Given the description of an element on the screen output the (x, y) to click on. 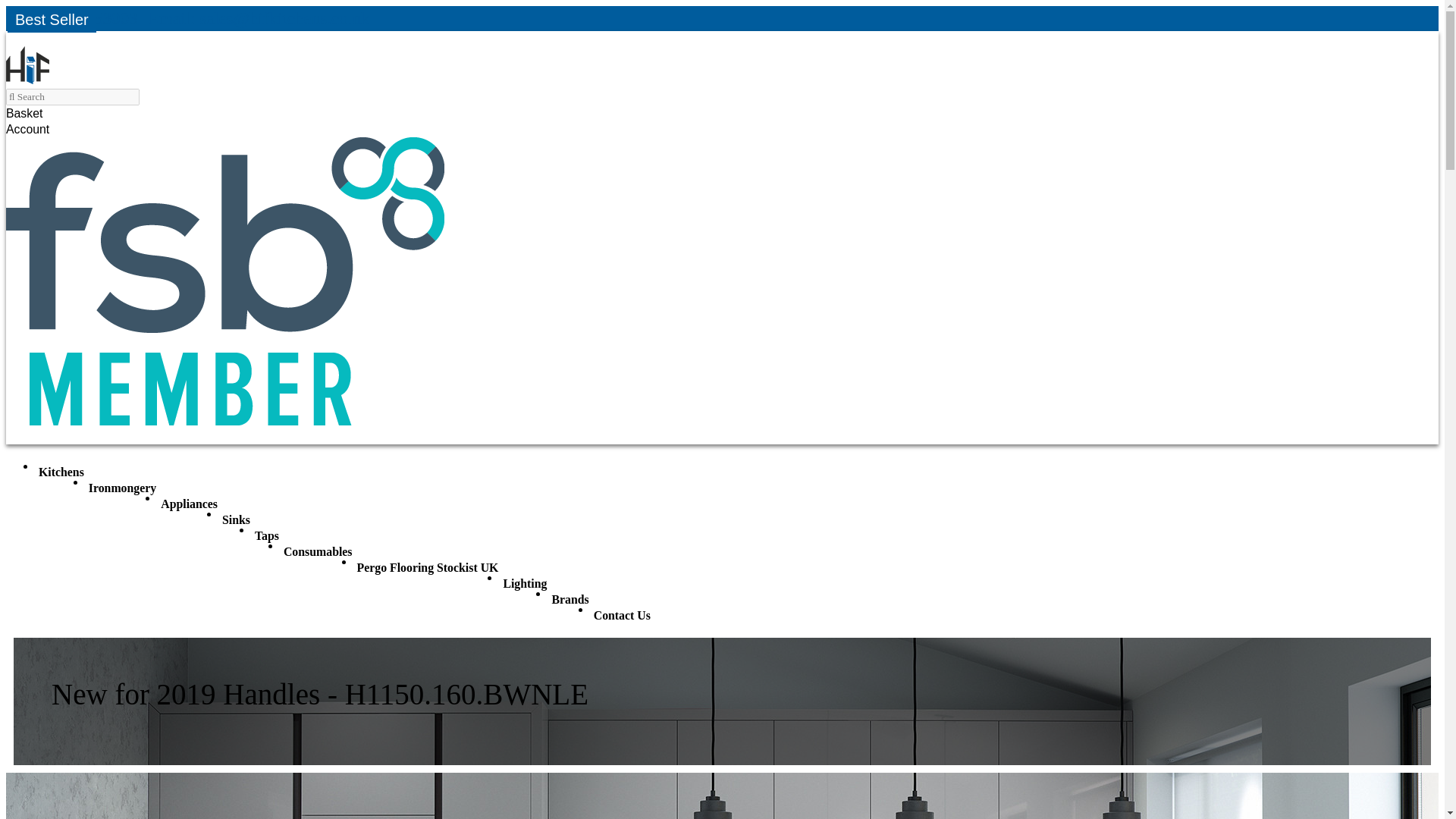
Appliances (188, 503)
Kitchens (60, 471)
Sinks (235, 520)
Ironmongery (121, 488)
Taps (266, 535)
Account (34, 128)
Basket (31, 113)
Go To Homepage (27, 79)
Tel: 01334 753003 (70, 18)
